Given the description of an element on the screen output the (x, y) to click on. 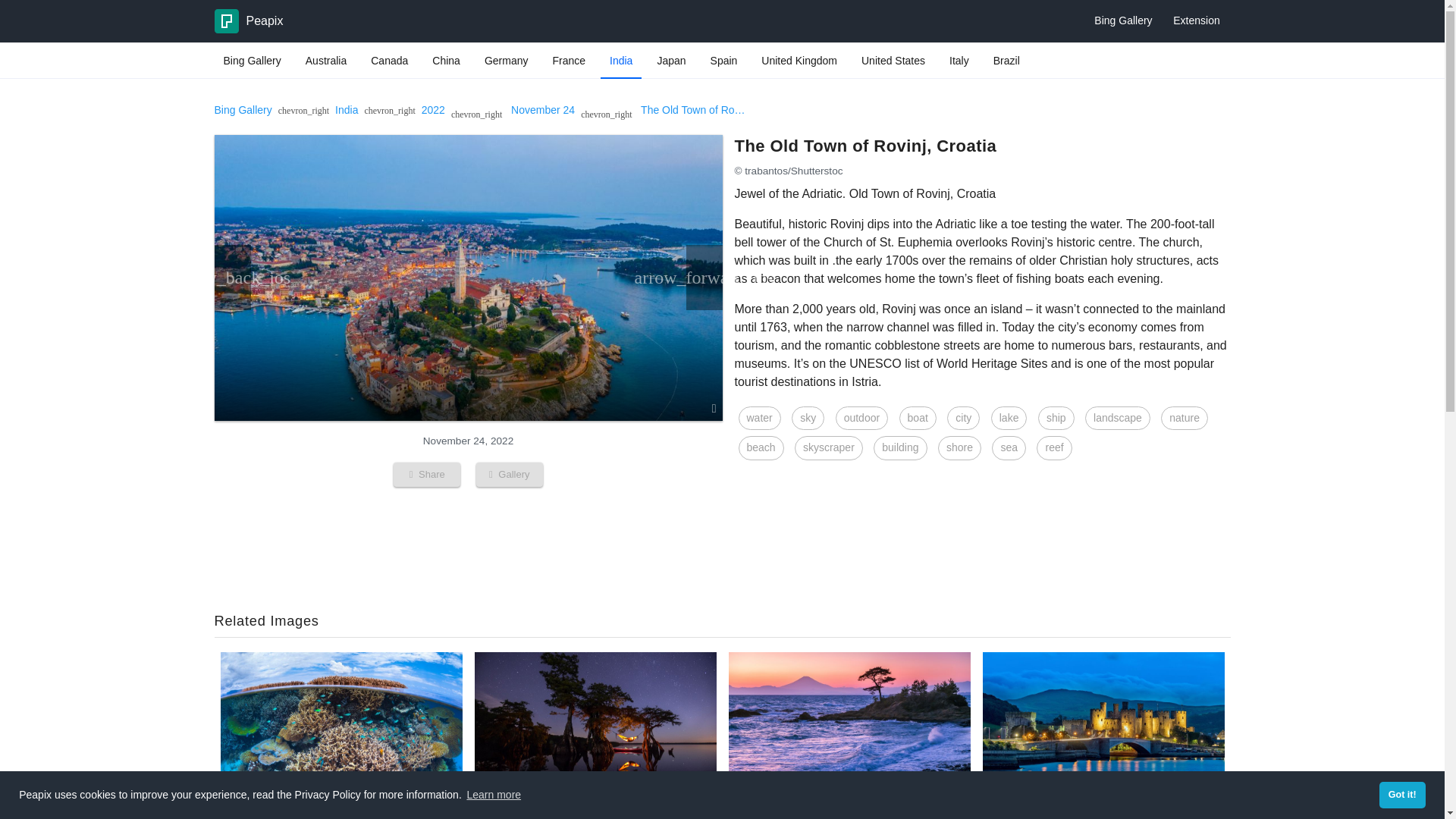
India (620, 60)
Learn more (493, 794)
France (568, 60)
Australia (326, 60)
Bing Gallery (251, 60)
United Kingdom (798, 60)
Canada (388, 60)
Got it! (1401, 795)
Brazil (1006, 60)
Advertisement (721, 544)
Germany (506, 60)
Jewel of the Adriatic. Old Town of Rovinj, Croatia (664, 110)
China (445, 60)
United States (892, 60)
2022 (433, 110)
